Given the description of an element on the screen output the (x, y) to click on. 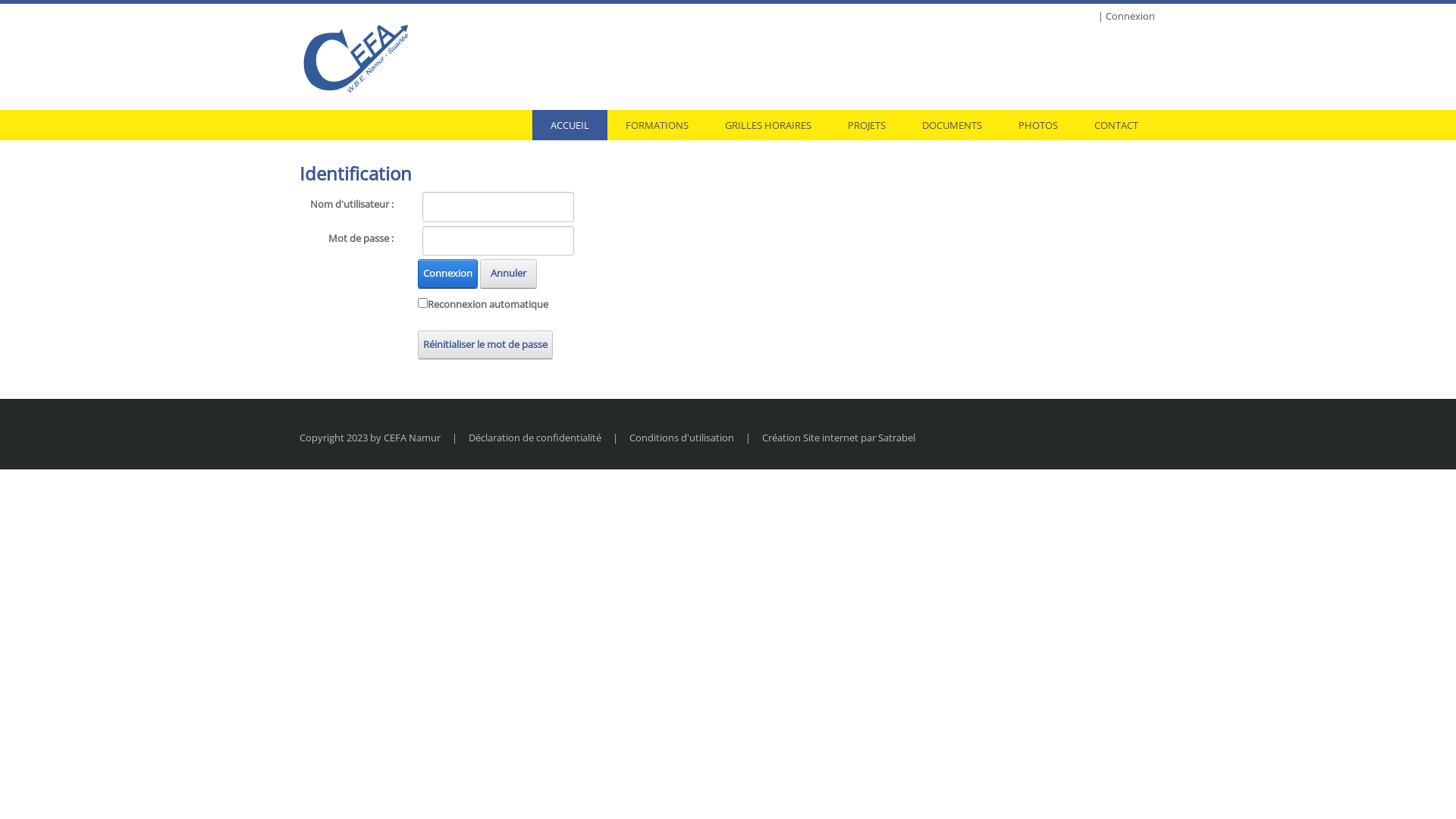
Connexion Element type: text (447, 273)
DOCUMENTS Element type: text (951, 124)
GRILLES HORAIRES Element type: text (767, 124)
CEFA Namur Element type: hover (357, 56)
PROJETS Element type: text (866, 124)
Connexion Element type: text (1129, 16)
CONTACT Element type: text (1116, 124)
FORMATIONS Element type: text (656, 124)
Conditions d'utilisation Element type: text (681, 437)
PHOTOS Element type: text (1038, 124)
ACCUEIL Element type: text (569, 124)
Annuler Element type: text (508, 273)
